Given the description of an element on the screen output the (x, y) to click on. 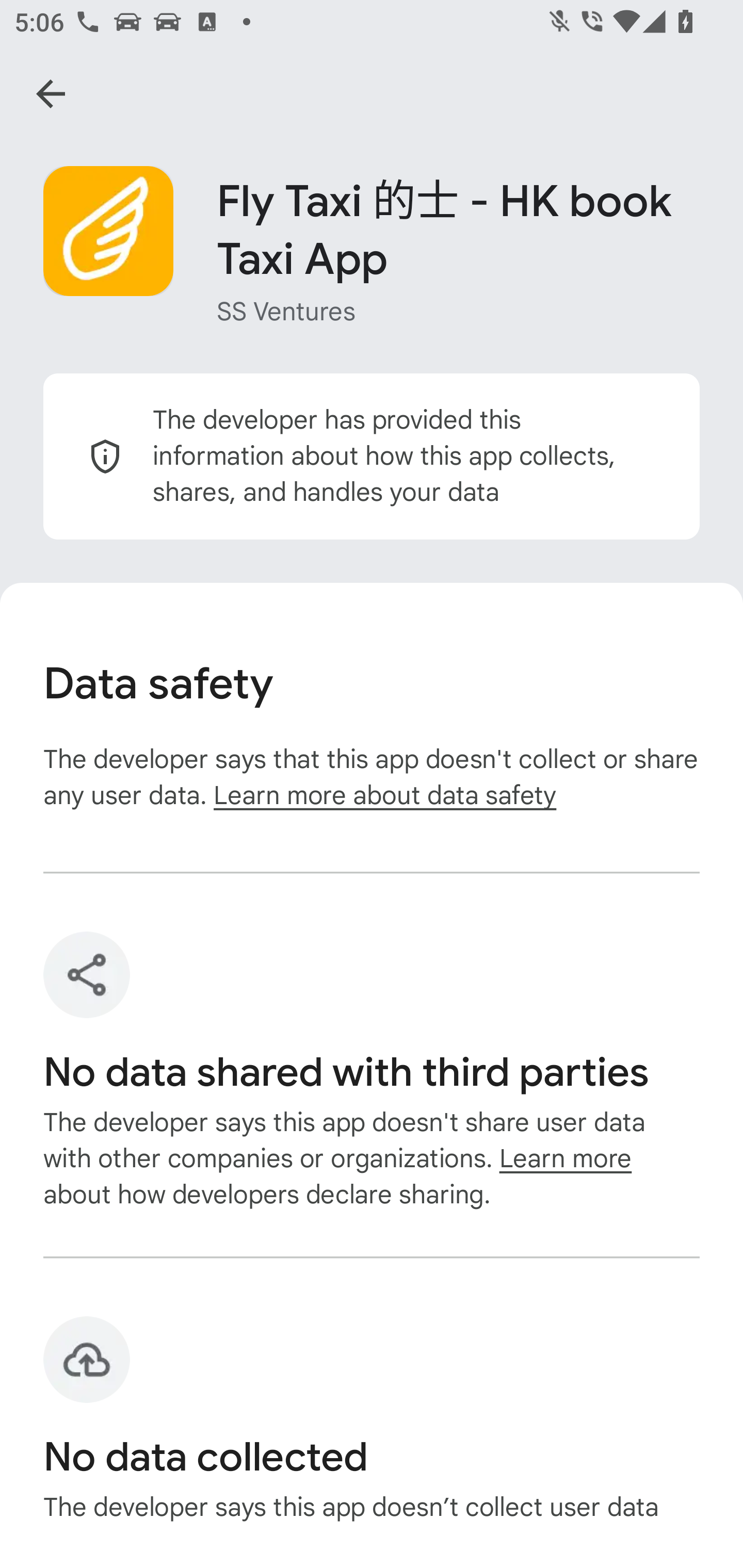
Navigate up (50, 93)
